Given the description of an element on the screen output the (x, y) to click on. 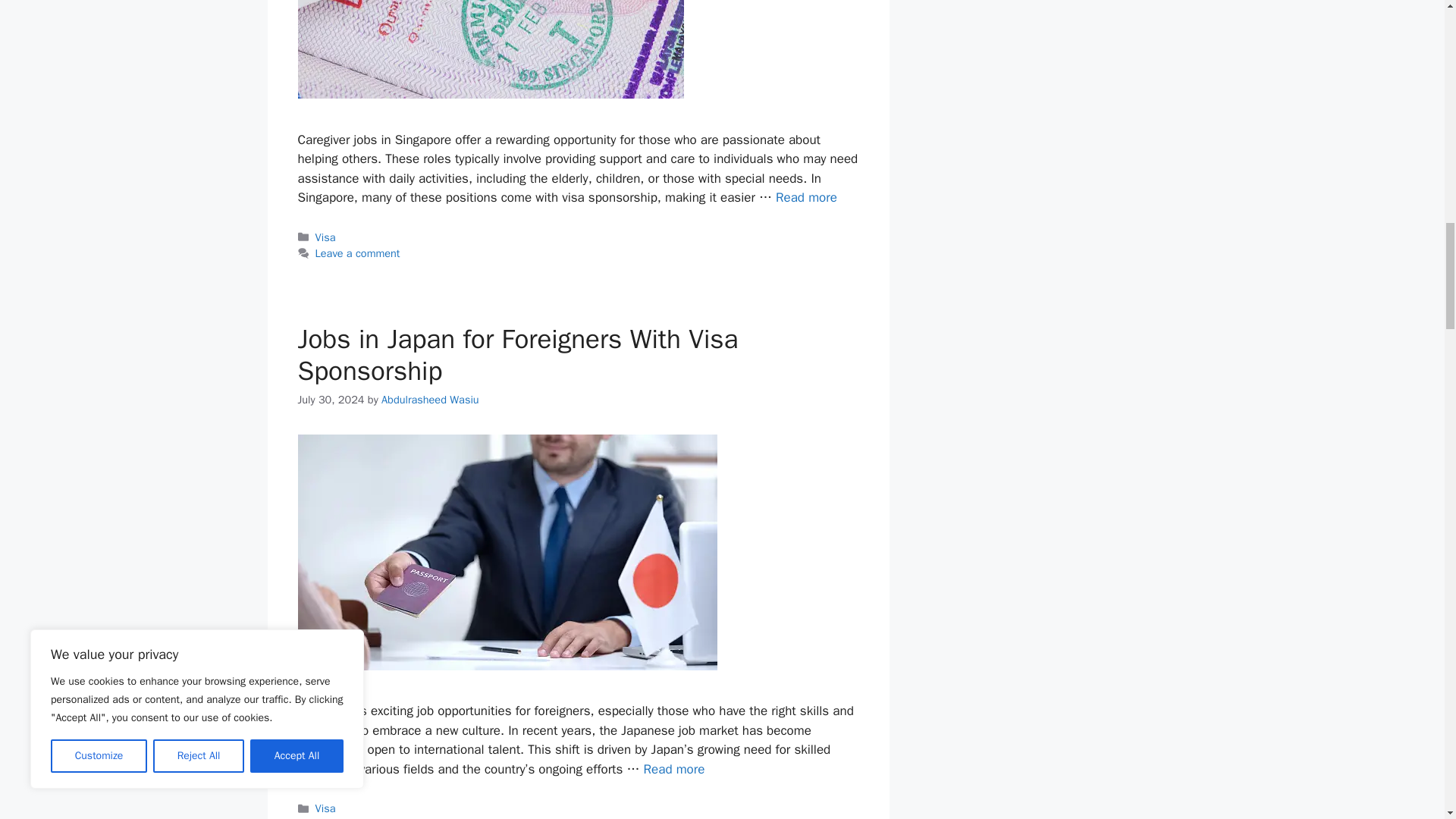
Caregiver Jobs in Singapore With Visa Sponsorship (806, 197)
View all posts by Abdulrasheed Wasiu (430, 399)
Jobs in Japan for Foreigners With Visa Sponsorship (673, 769)
